Given the description of an element on the screen output the (x, y) to click on. 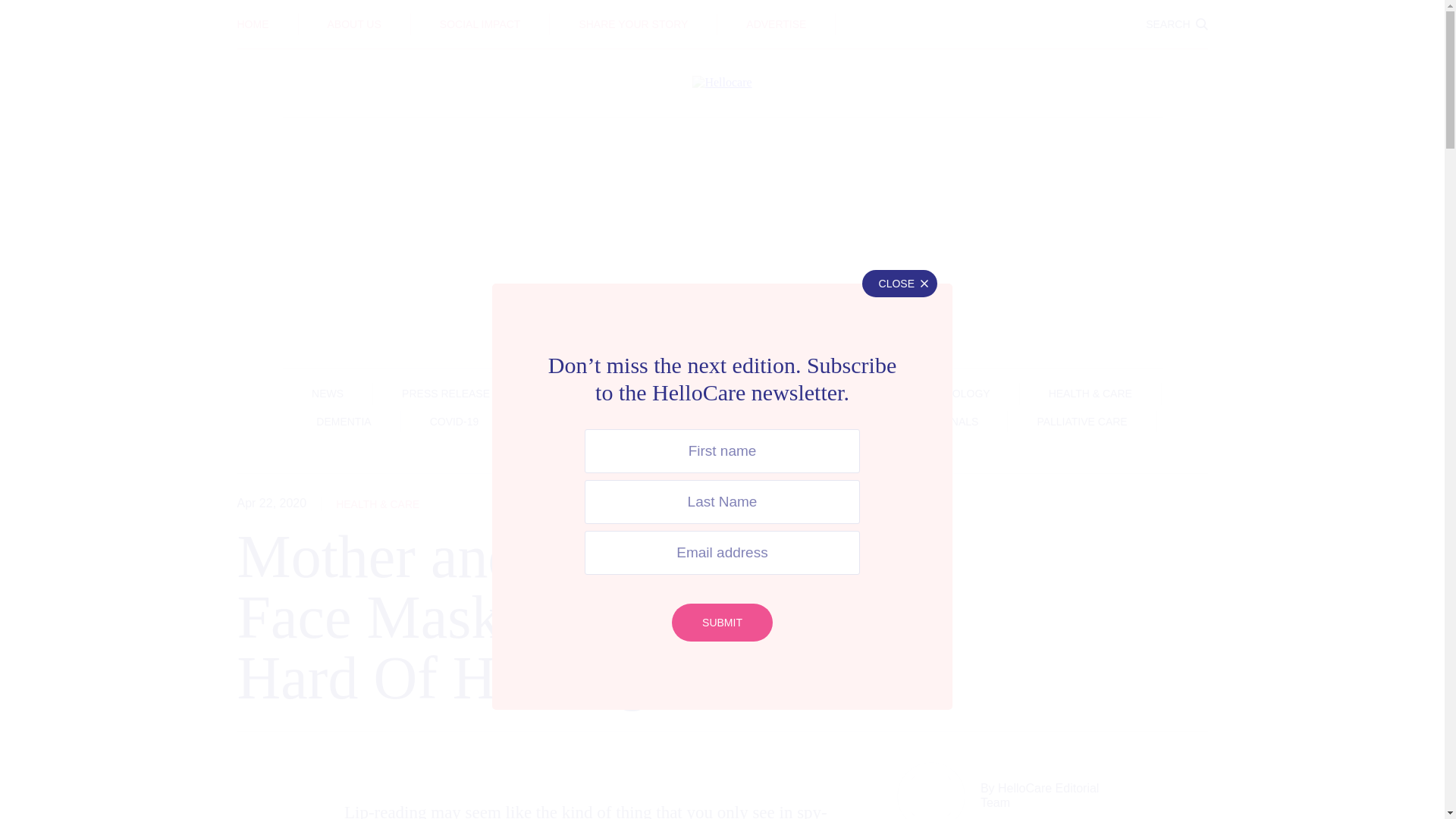
ADVERTISE (775, 24)
ABOUT US (354, 24)
EDUCATION (721, 13)
HOME (251, 24)
Submit (722, 622)
SEARCH (1176, 24)
SHARE YOUR STORY (632, 24)
SOCIAL IMPACT (480, 24)
